Given the description of an element on the screen output the (x, y) to click on. 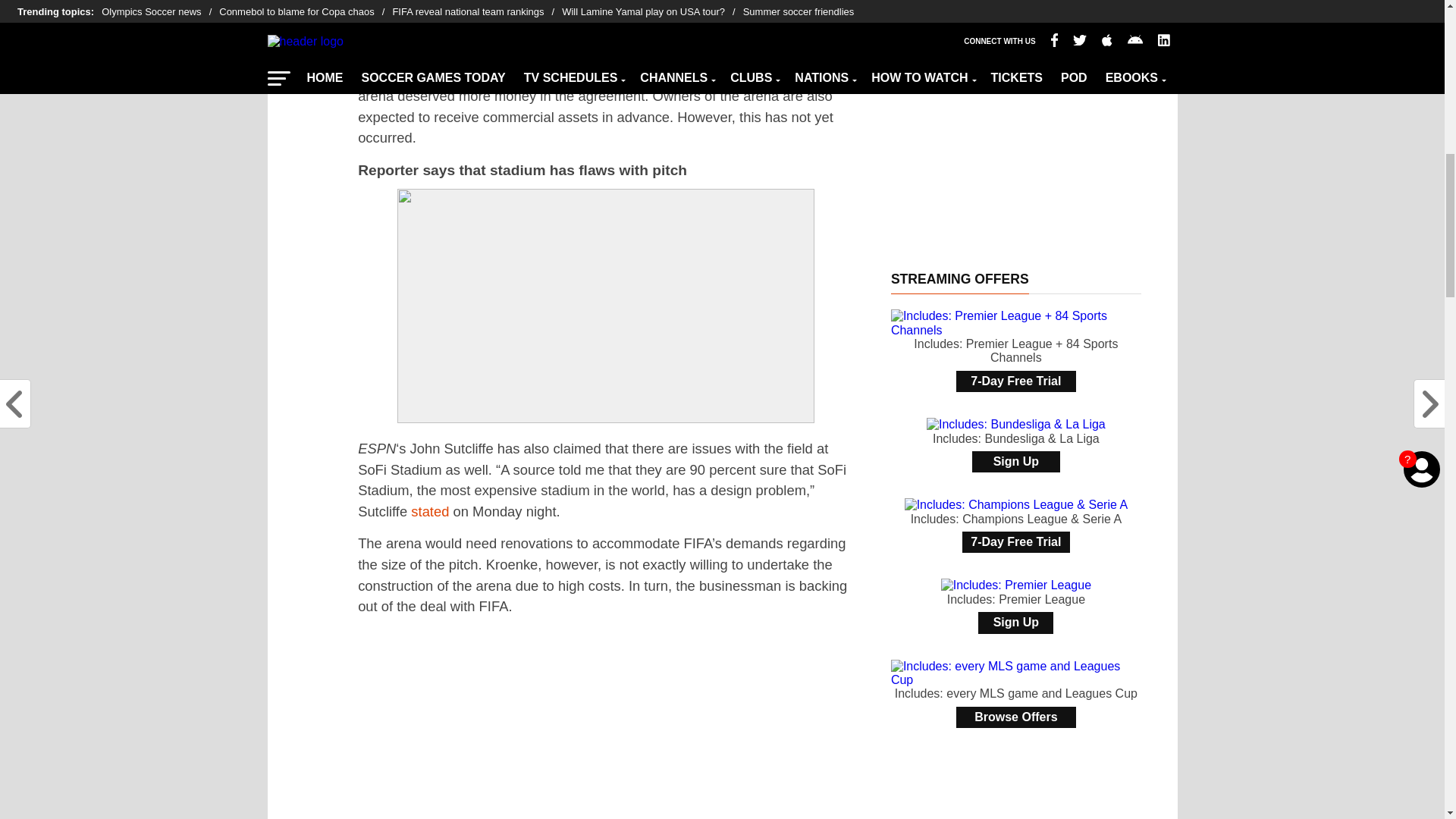
stated (429, 511)
Arsenal (646, 4)
Premier League (541, 4)
